Given the description of an element on the screen output the (x, y) to click on. 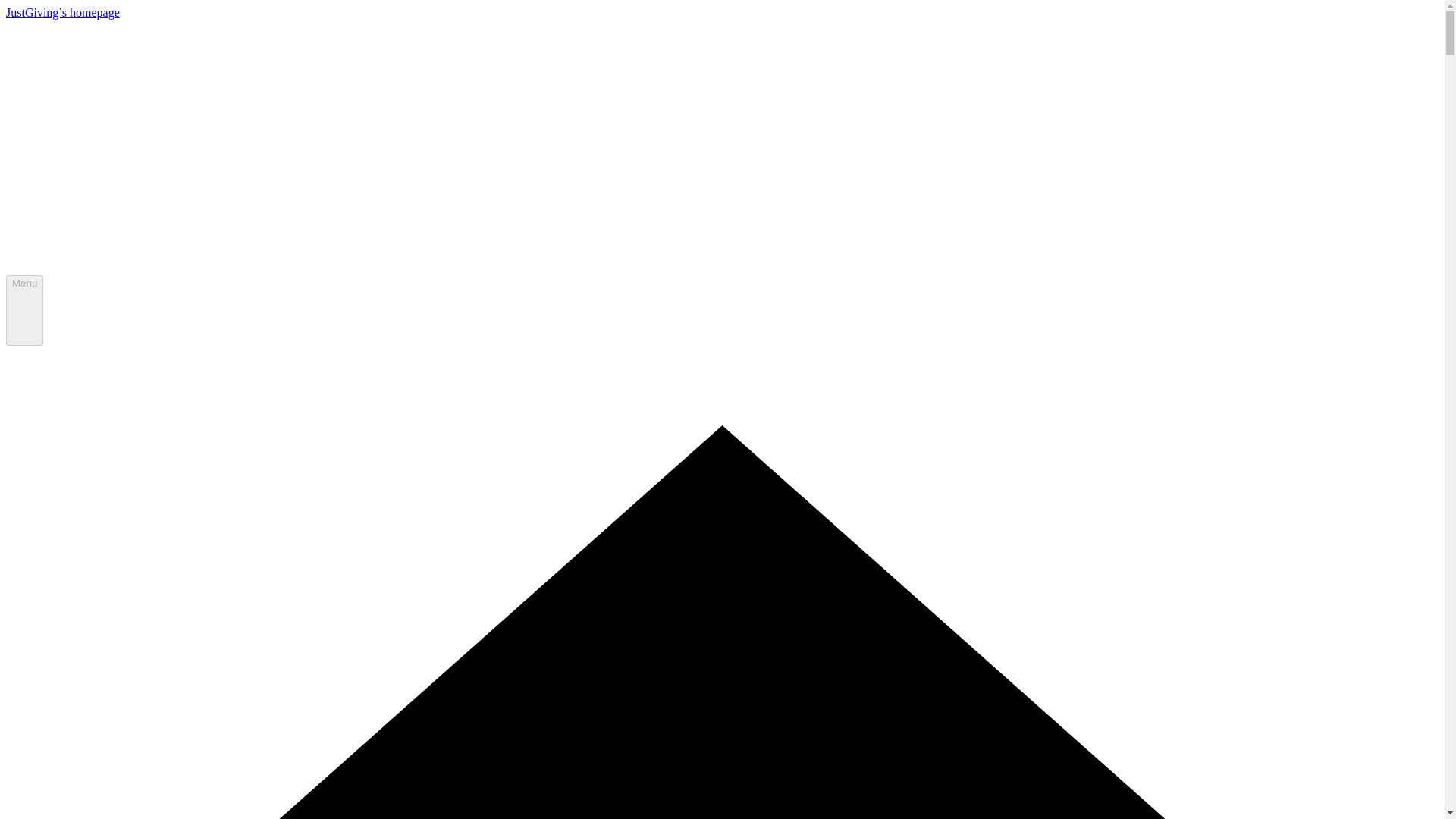
Menu (24, 310)
